Given the description of an element on the screen output the (x, y) to click on. 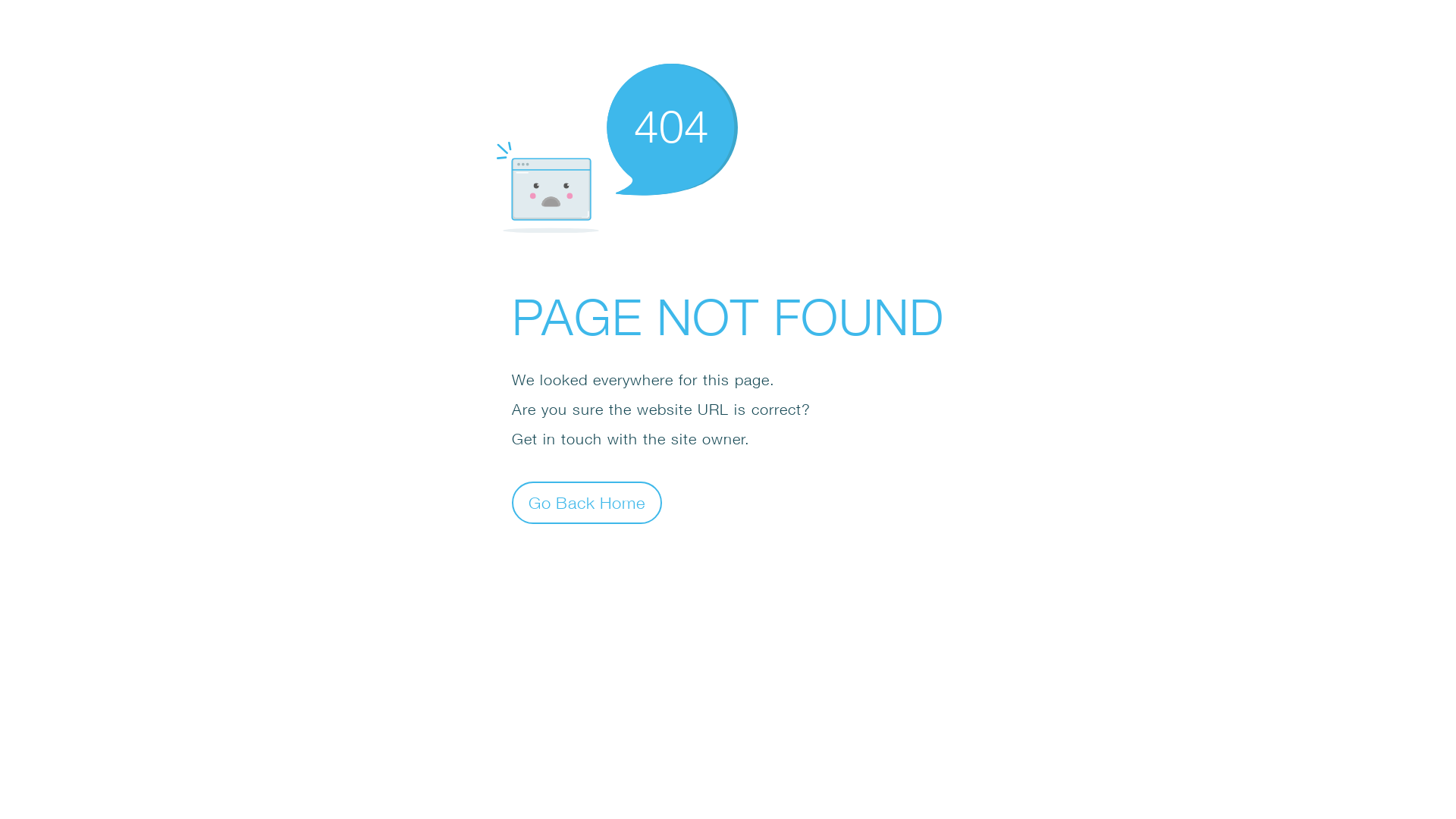
Go Back Home Element type: text (586, 502)
